Given the description of an element on the screen output the (x, y) to click on. 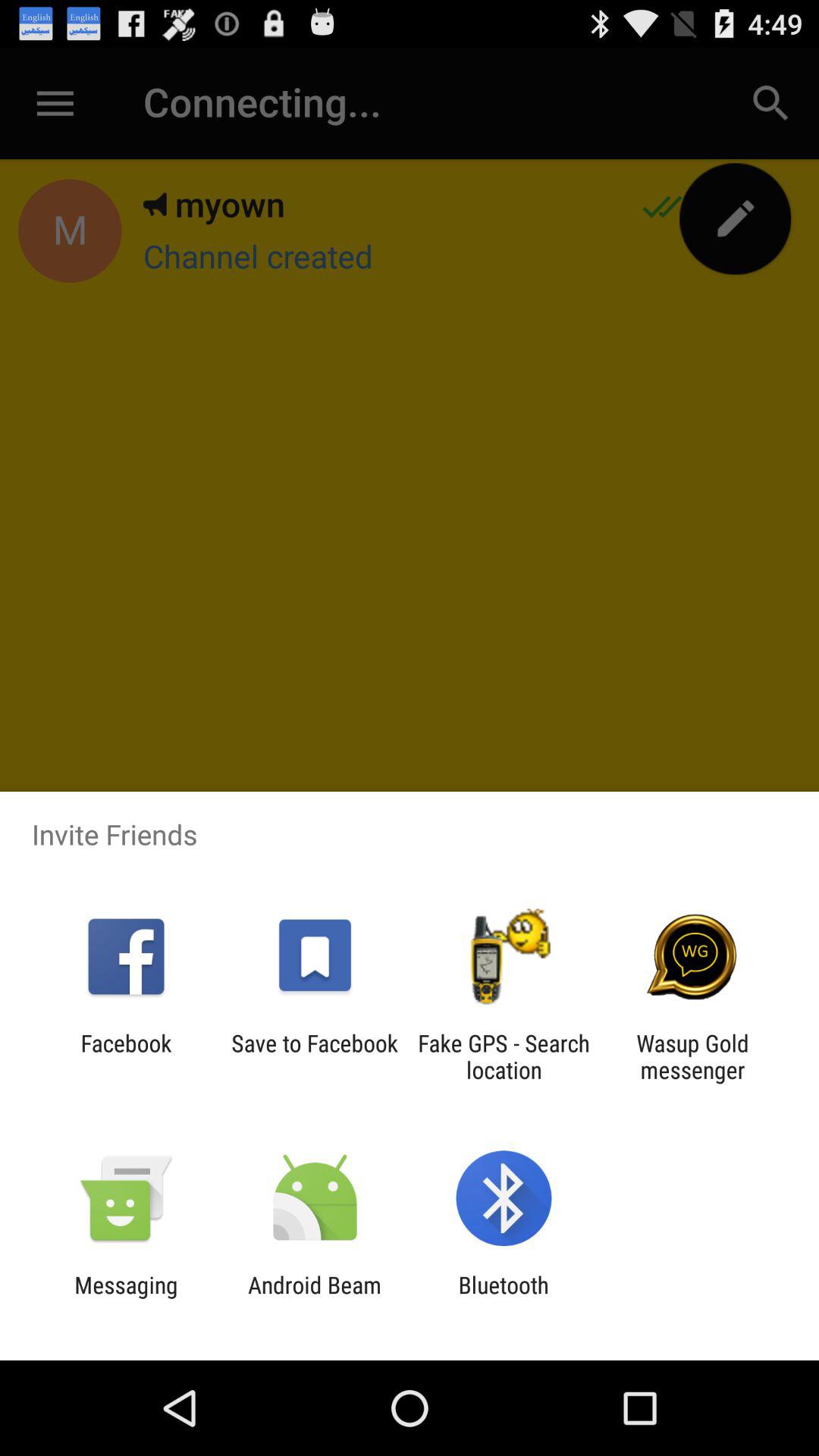
choose wasup gold messenger (692, 1056)
